Given the description of an element on the screen output the (x, y) to click on. 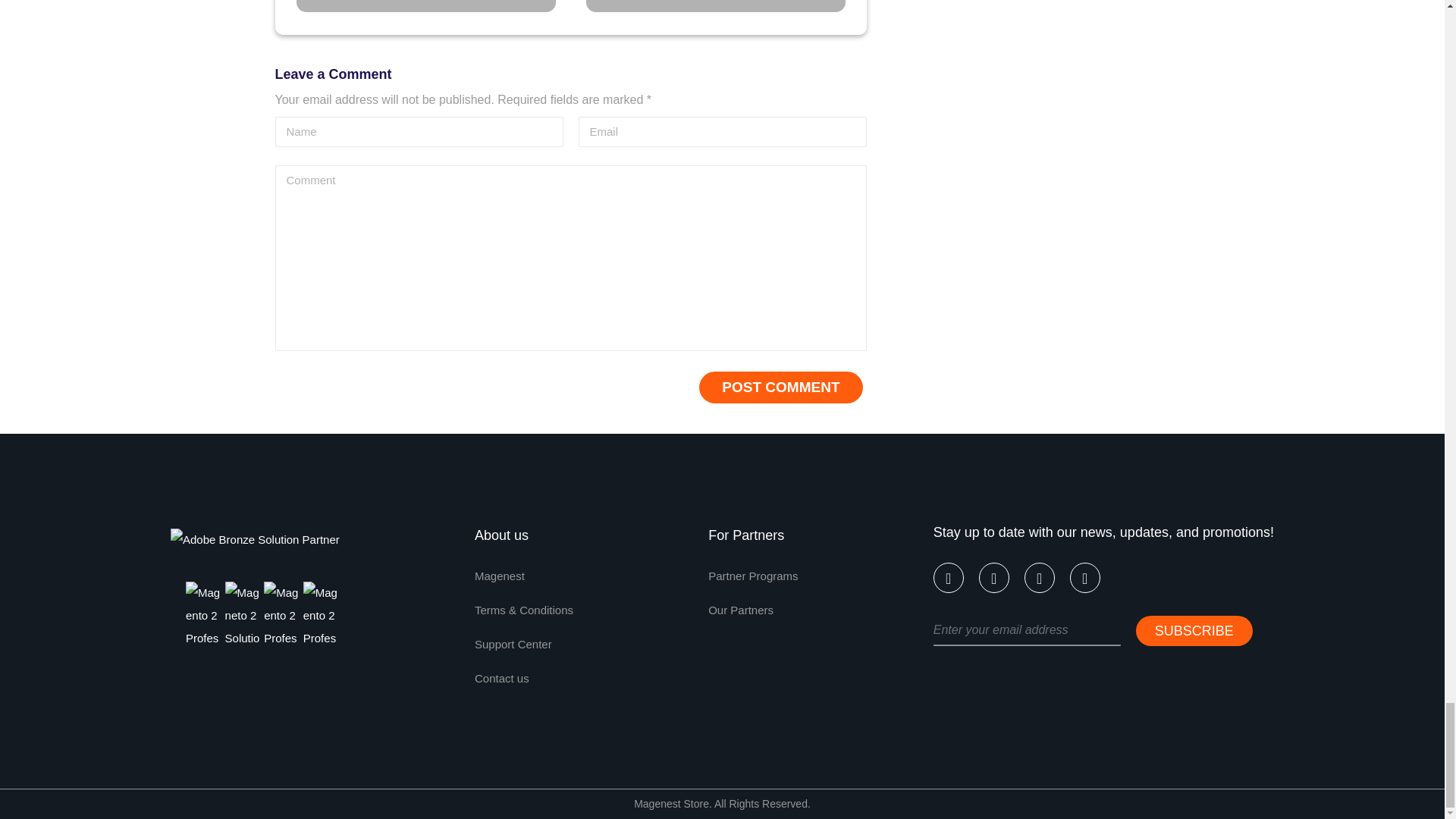
Visual Merchandiser for Magento Commerce (714, 6)
mCommerce vs eCommerce: Are they different or the same? (424, 6)
